Given the description of an element on the screen output the (x, y) to click on. 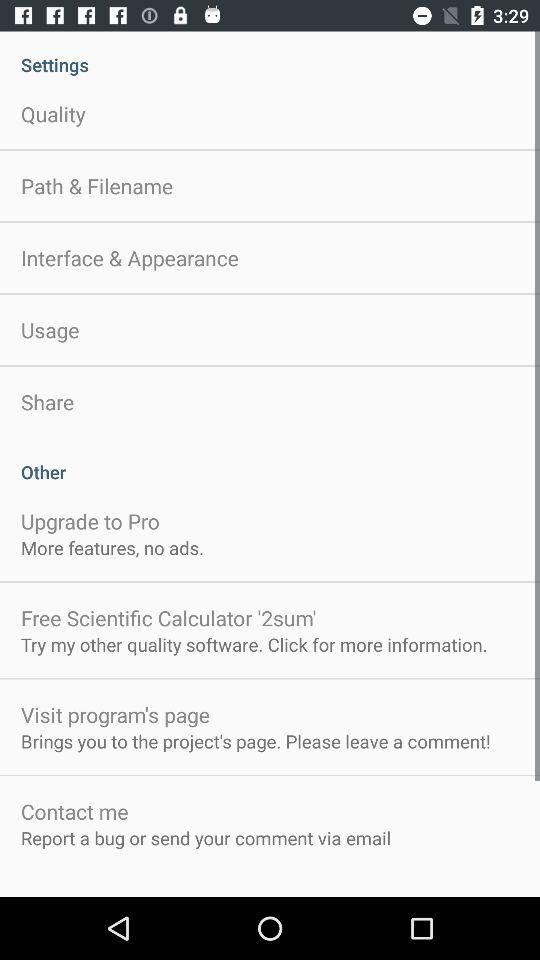
scroll to path & filename app (97, 185)
